Given the description of an element on the screen output the (x, y) to click on. 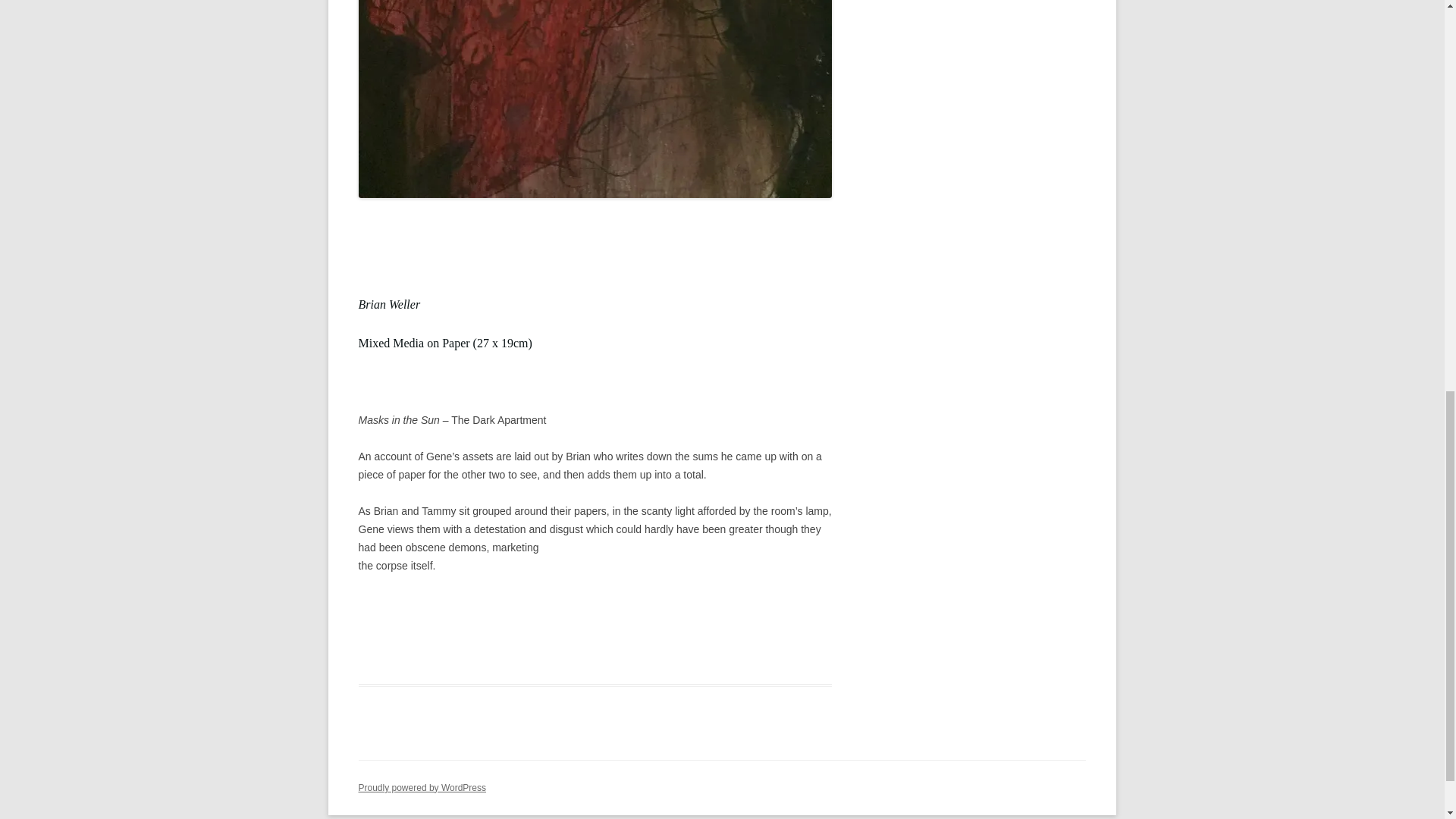
Semantic Personal Publishing Platform (422, 787)
Proudly powered by WordPress (422, 787)
